Given the description of an element on the screen output the (x, y) to click on. 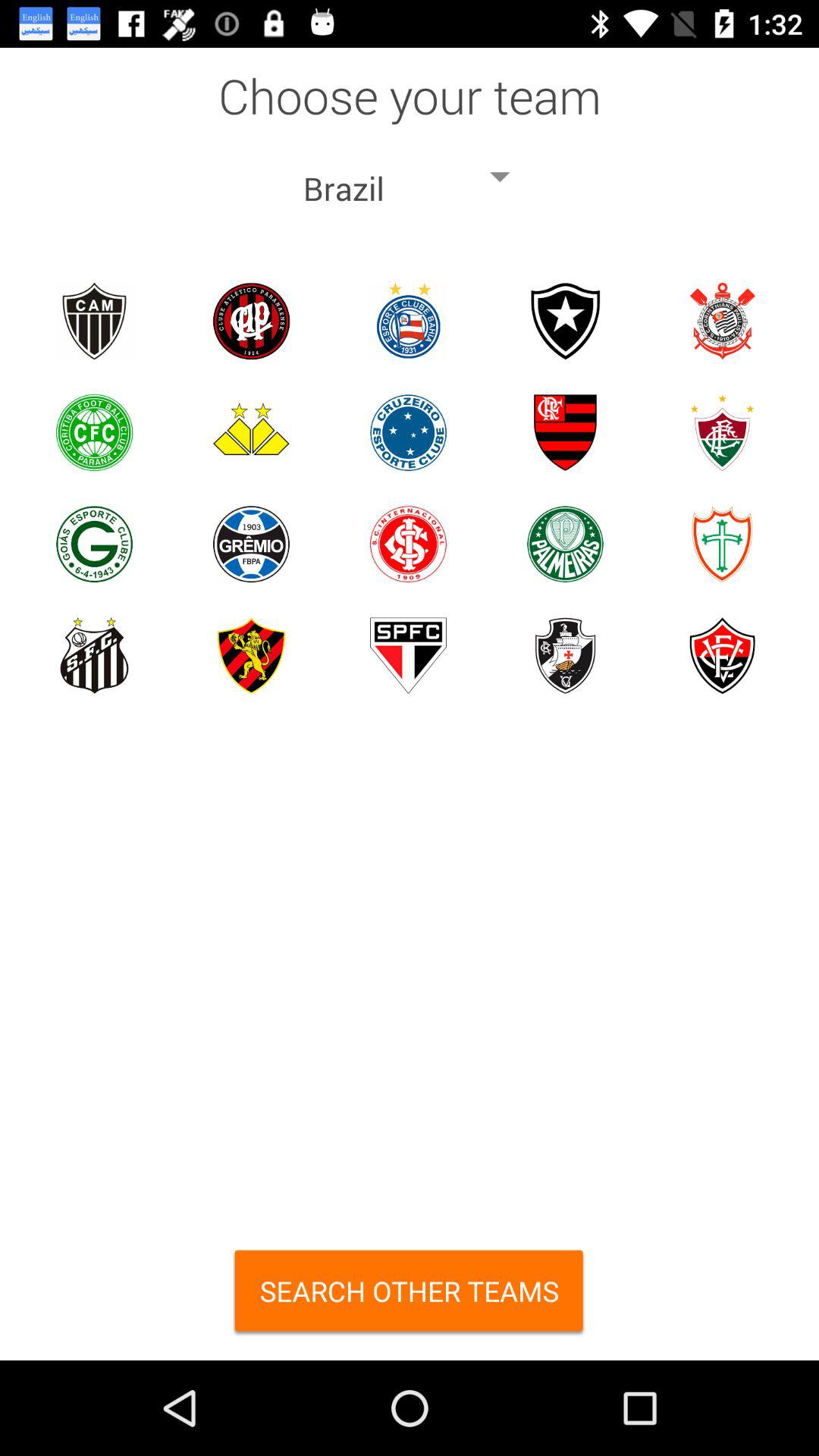
pick this team (722, 432)
